Given the description of an element on the screen output the (x, y) to click on. 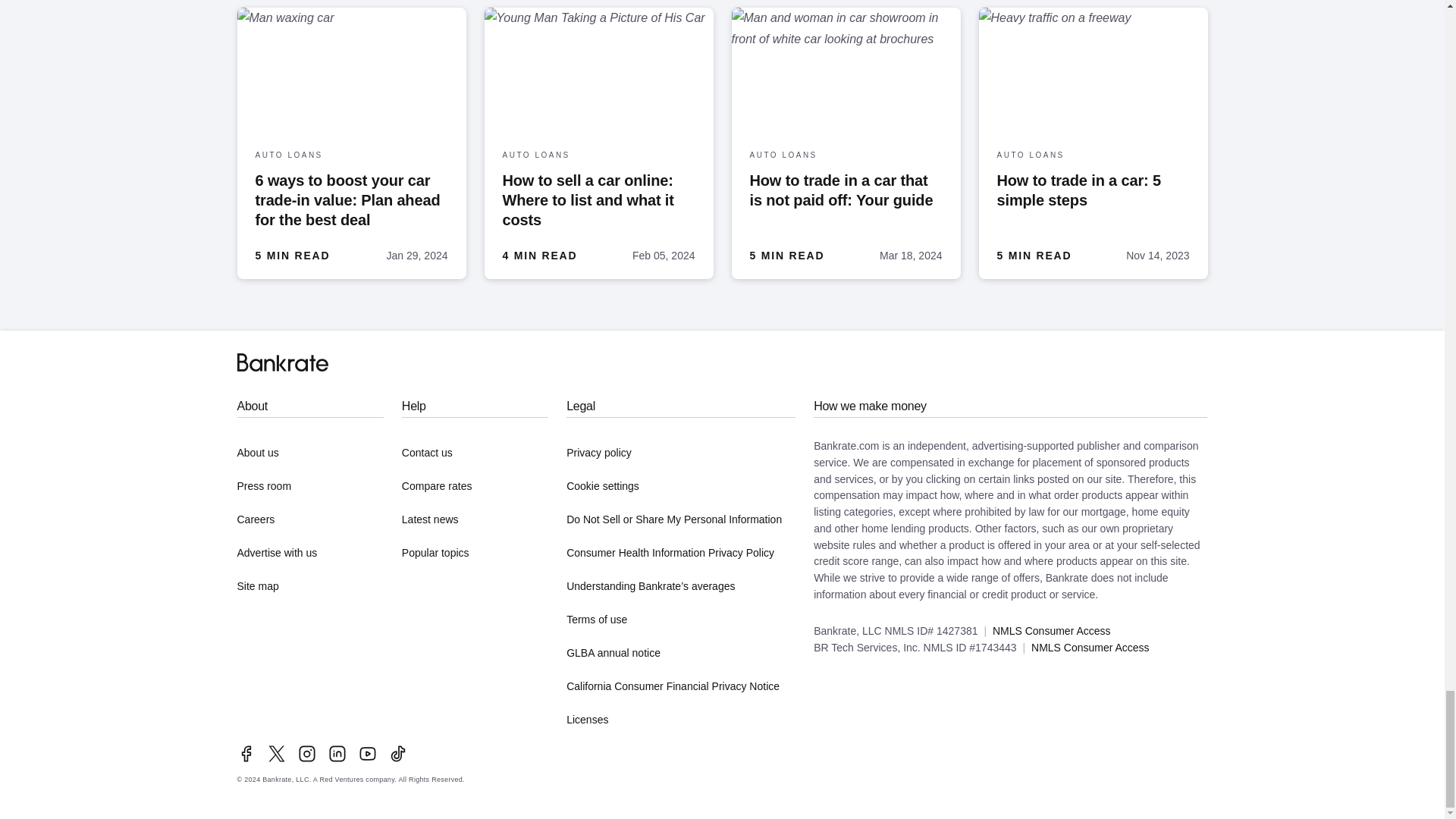
Instagram logo (306, 753)
TikTok logo (397, 753)
Instagram (306, 753)
Twitter logo (275, 753)
YouTube logo (366, 753)
Twitter (275, 753)
LinkedIn (336, 753)
Facebook (244, 753)
Tiktok (397, 753)
Bankrate (281, 361)
Youtube (366, 753)
Facebook logo (244, 753)
LinkedIn logo (336, 753)
